Given the description of an element on the screen output the (x, y) to click on. 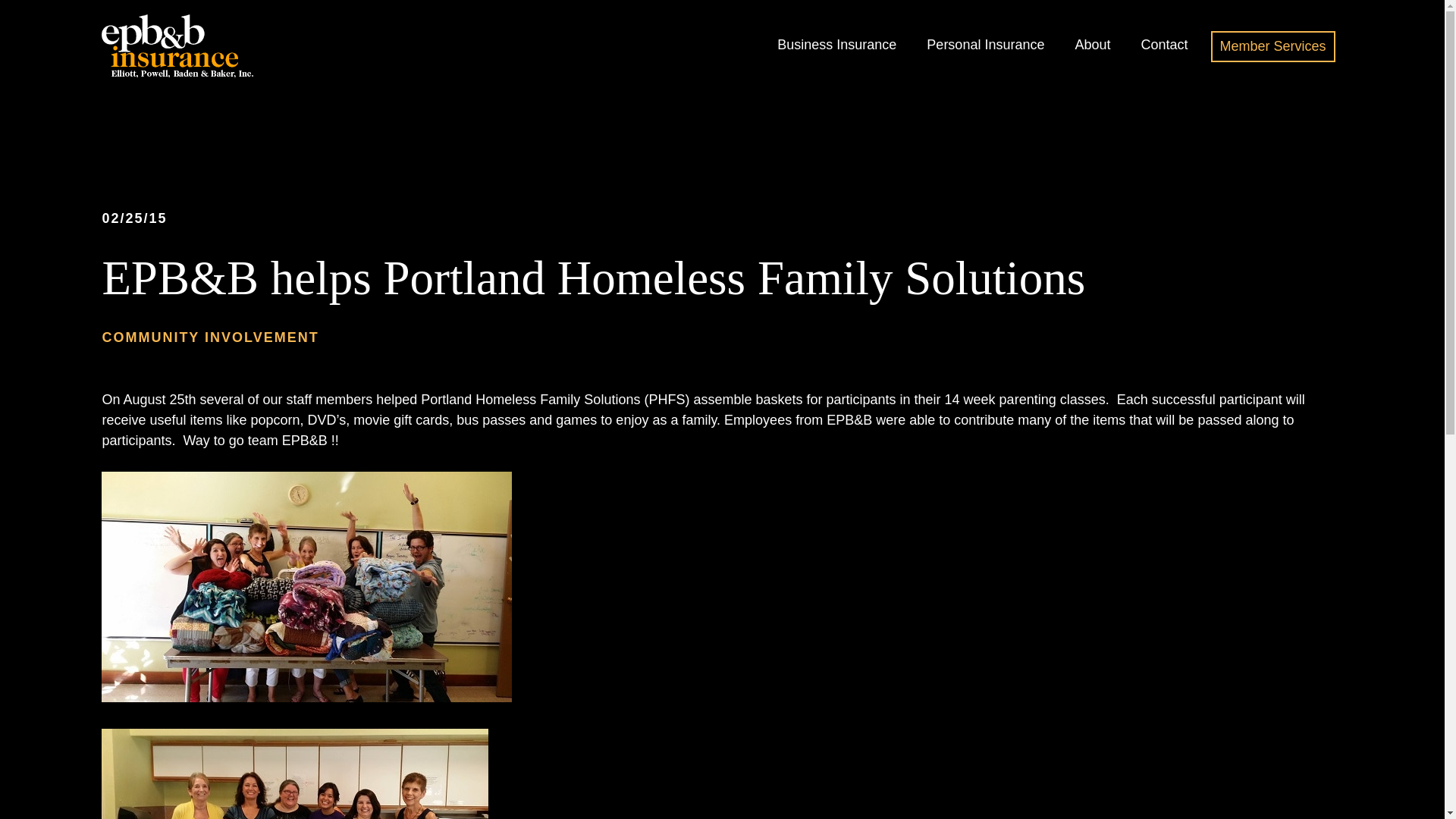
About (1092, 44)
Business Insurance (837, 44)
Personal Insurance (984, 44)
